Given the description of an element on the screen output the (x, y) to click on. 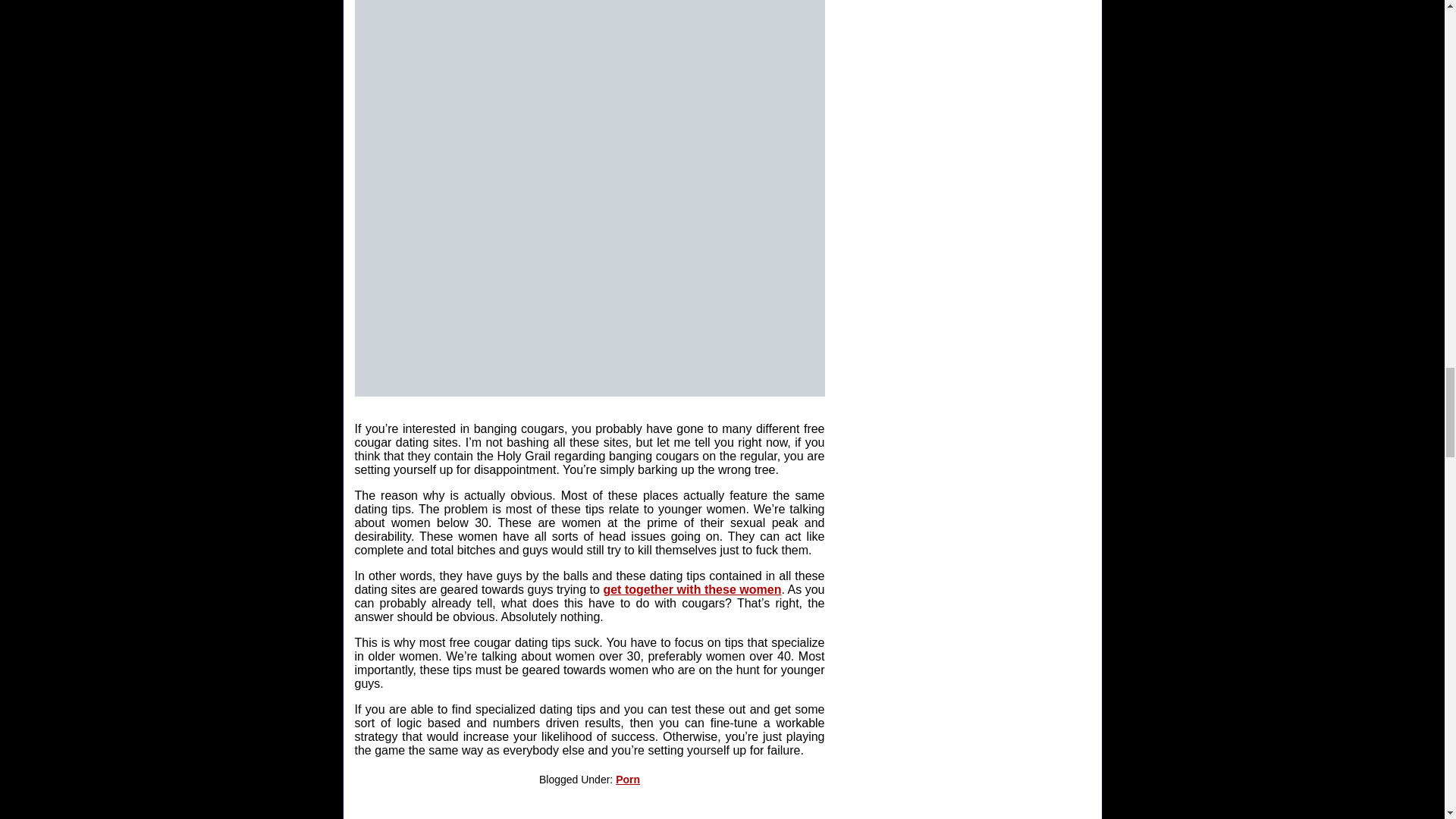
Porn (627, 779)
get together with these women (691, 589)
